Given the description of an element on the screen output the (x, y) to click on. 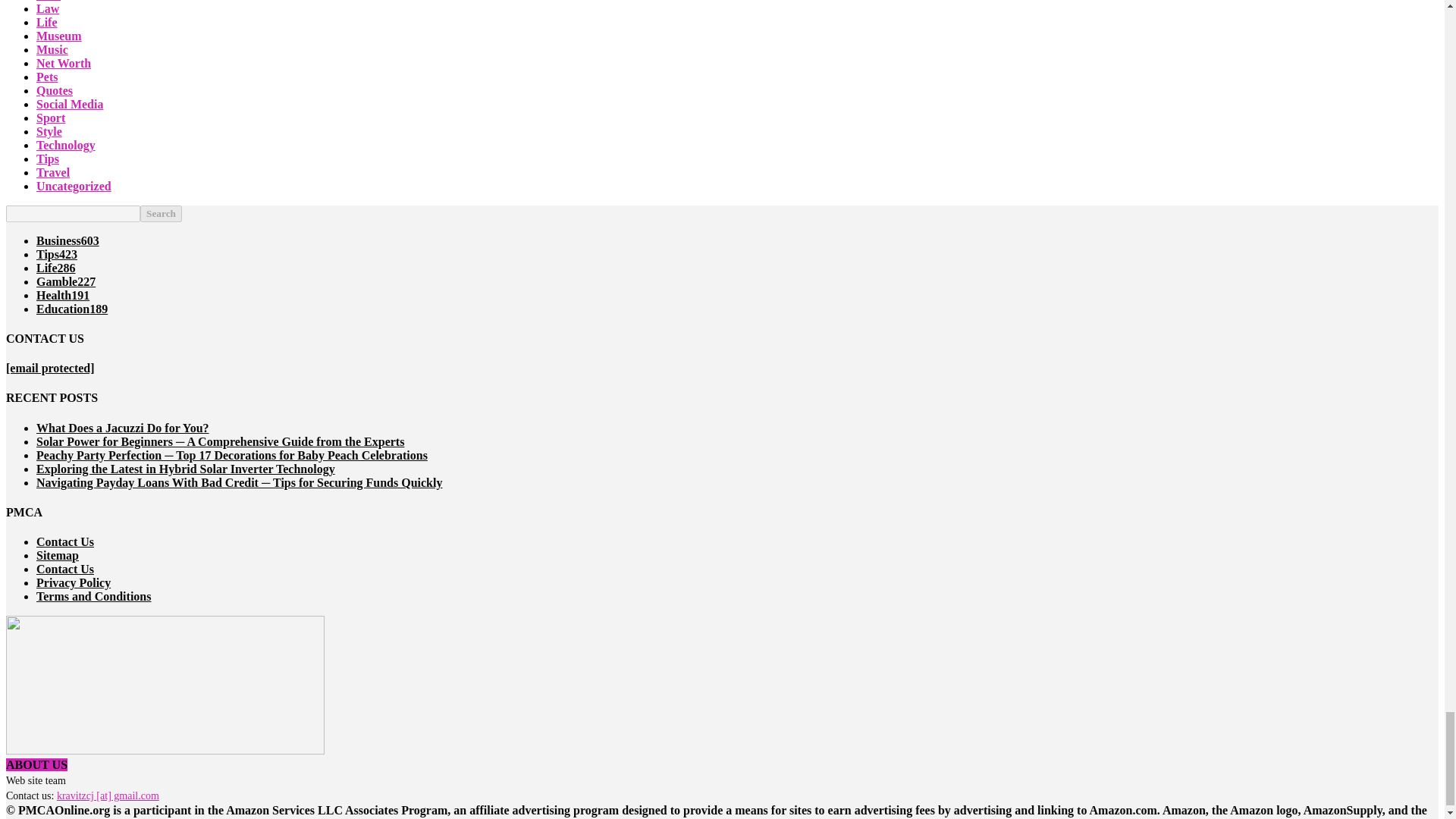
Search (160, 213)
